Given the description of an element on the screen output the (x, y) to click on. 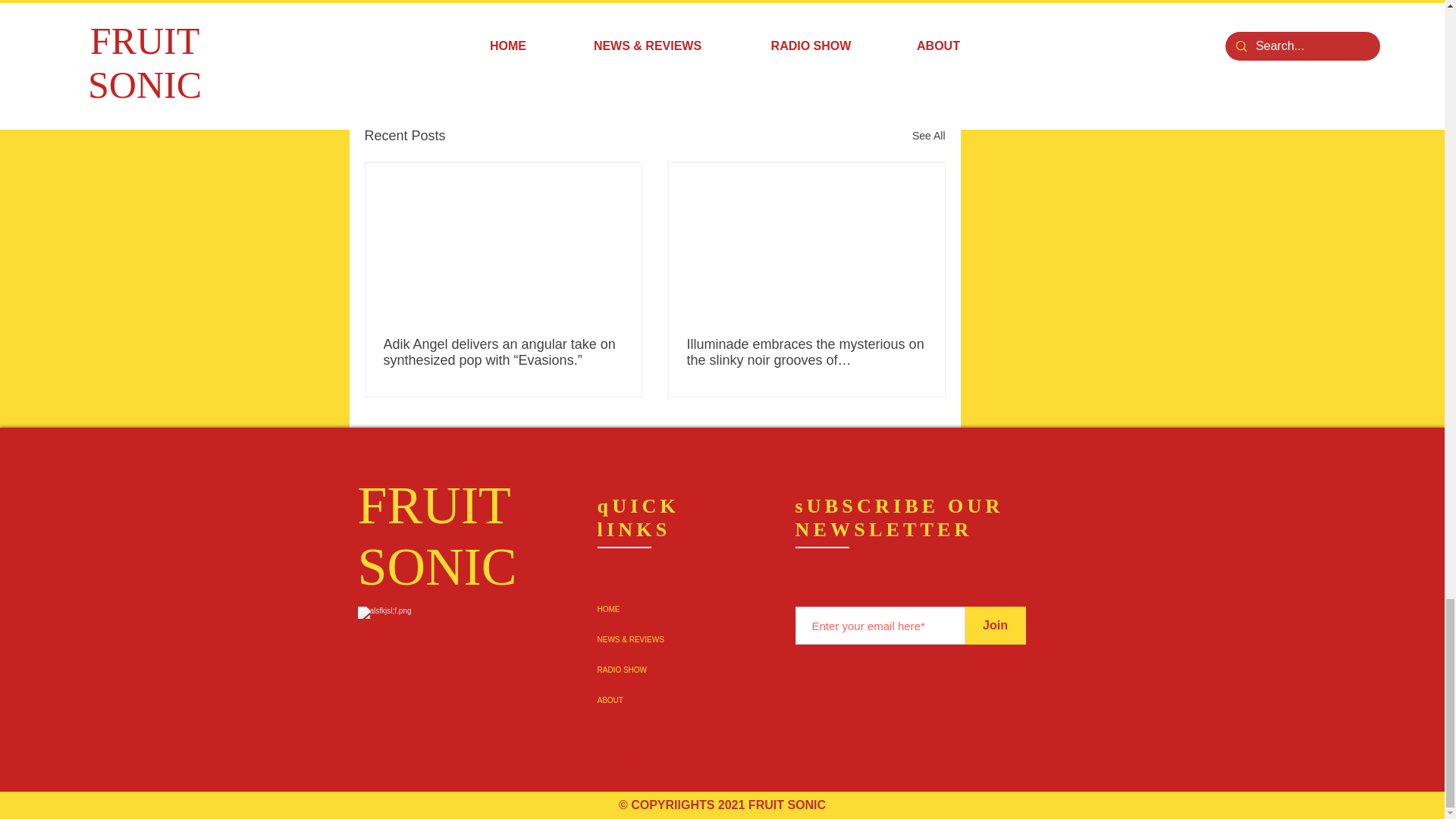
FRUIT SONIC (437, 535)
RADIO SHOW (677, 670)
qUICK lINKS (637, 517)
Join (994, 625)
See All (928, 136)
sUBSCRIBE OUR NEWSLETTER (898, 517)
HOME (677, 609)
ABOUT (677, 700)
